Given the description of an element on the screen output the (x, y) to click on. 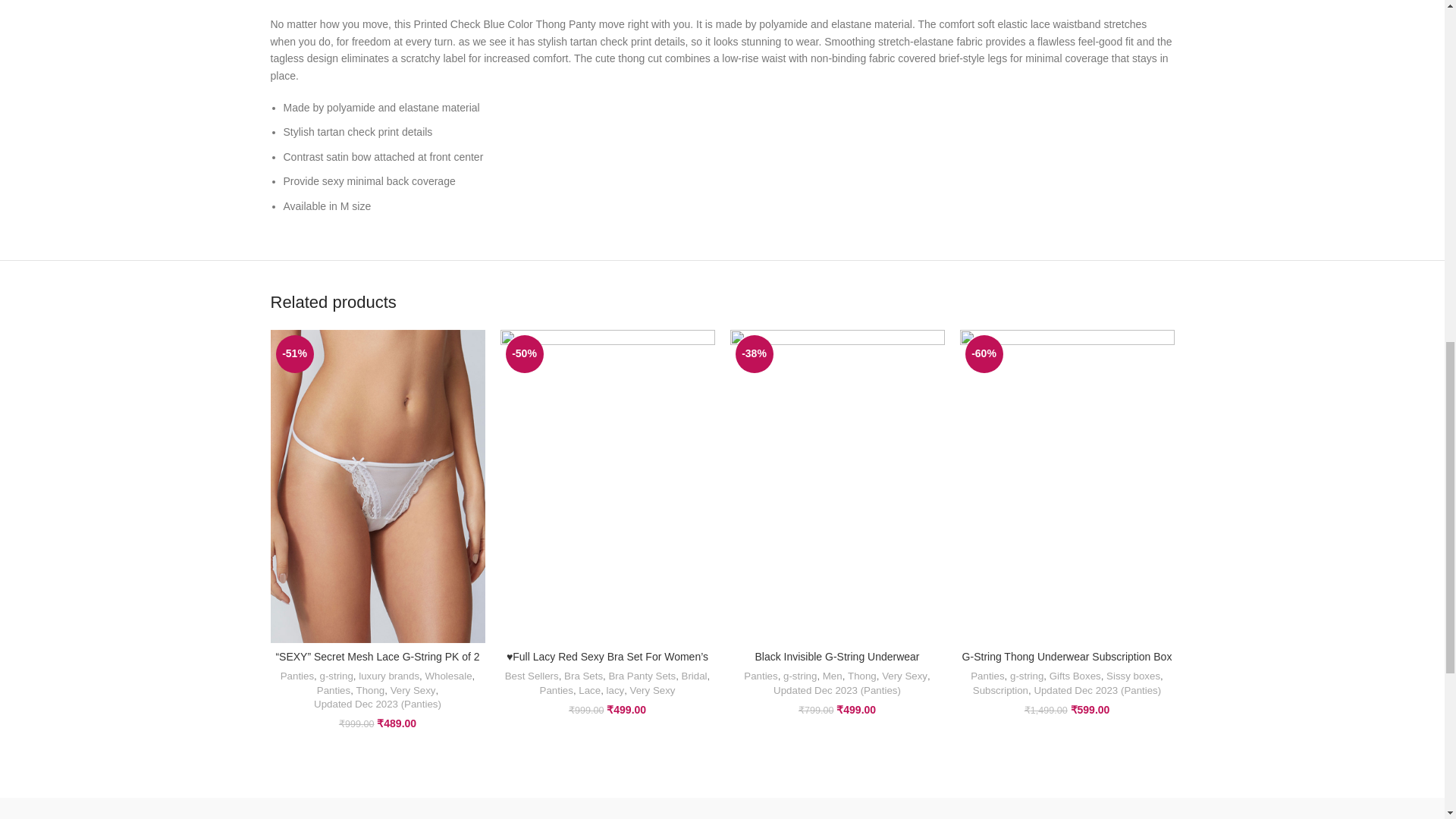
undi (593, 808)
wenderlove (333, 808)
seeret (722, 808)
warnes (463, 808)
